Given the description of an element on the screen output the (x, y) to click on. 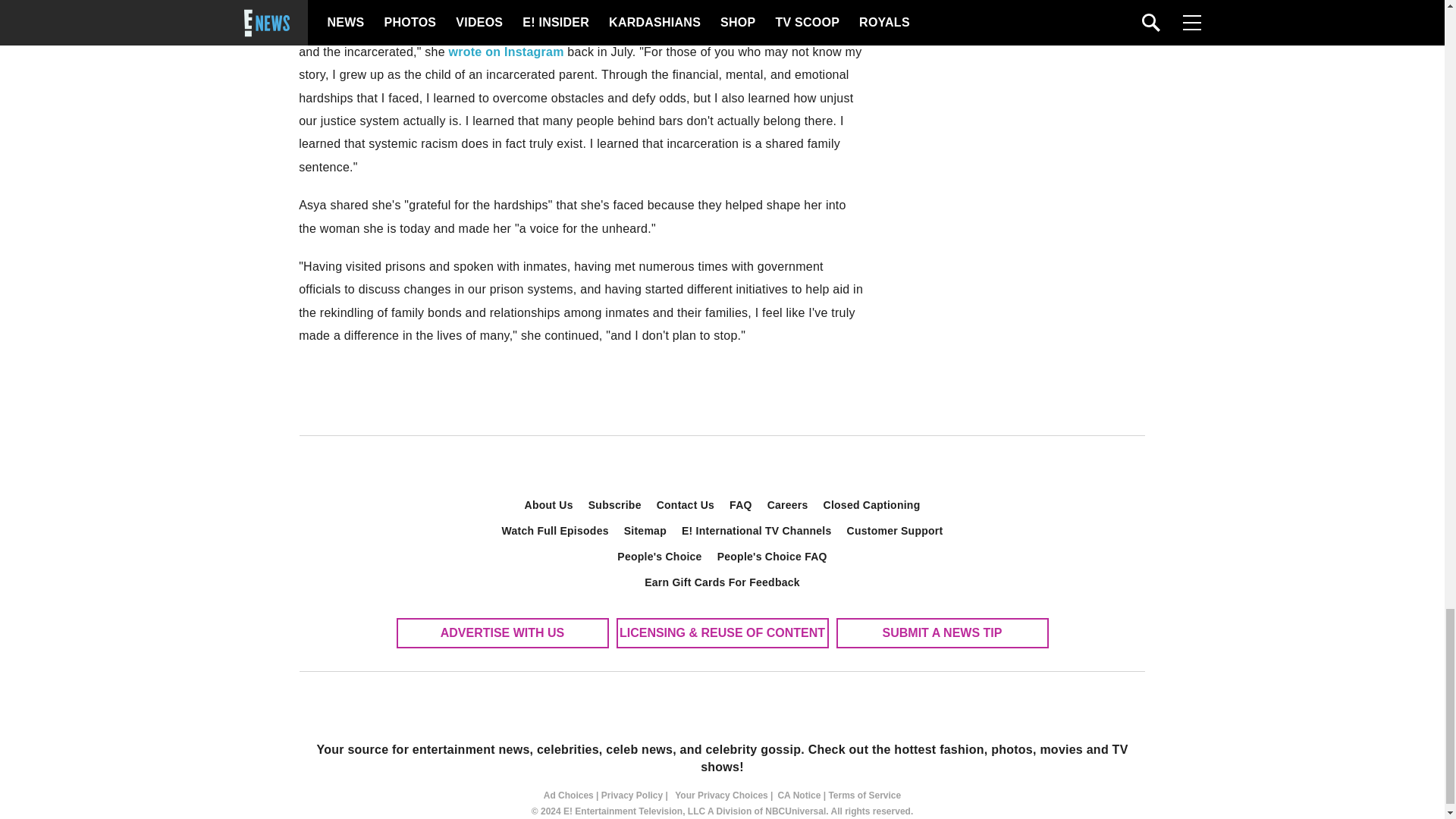
Subscribe (614, 504)
About Us (548, 504)
wrote on Instagram (506, 51)
